Given the description of an element on the screen output the (x, y) to click on. 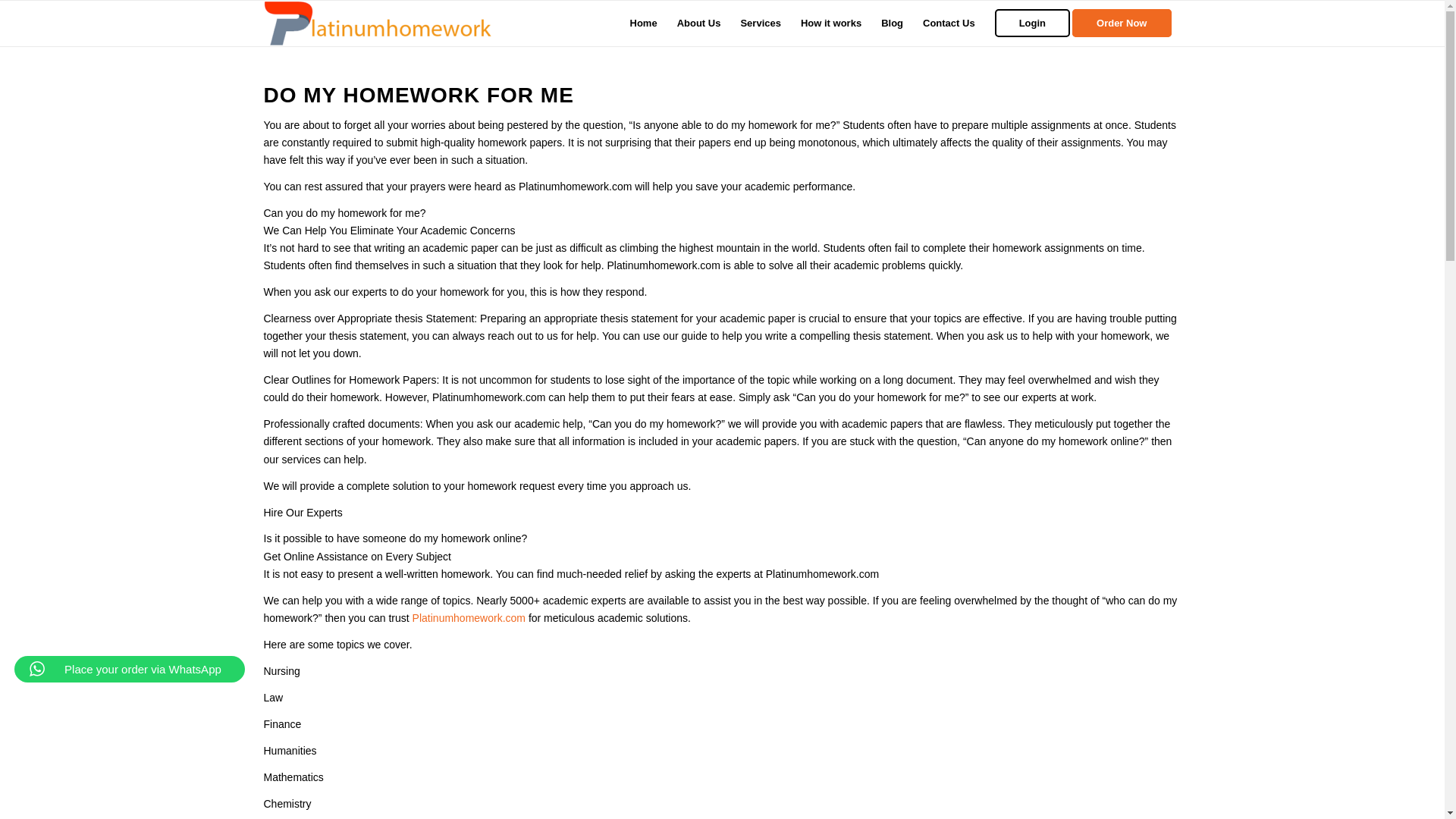
Order Now (1125, 22)
How it works (830, 22)
Platinumhomework.com (468, 617)
Login (1032, 22)
About Us (698, 22)
Services (760, 22)
Blog (891, 22)
Home (643, 22)
Contact Us (948, 22)
